Given the description of an element on the screen output the (x, y) to click on. 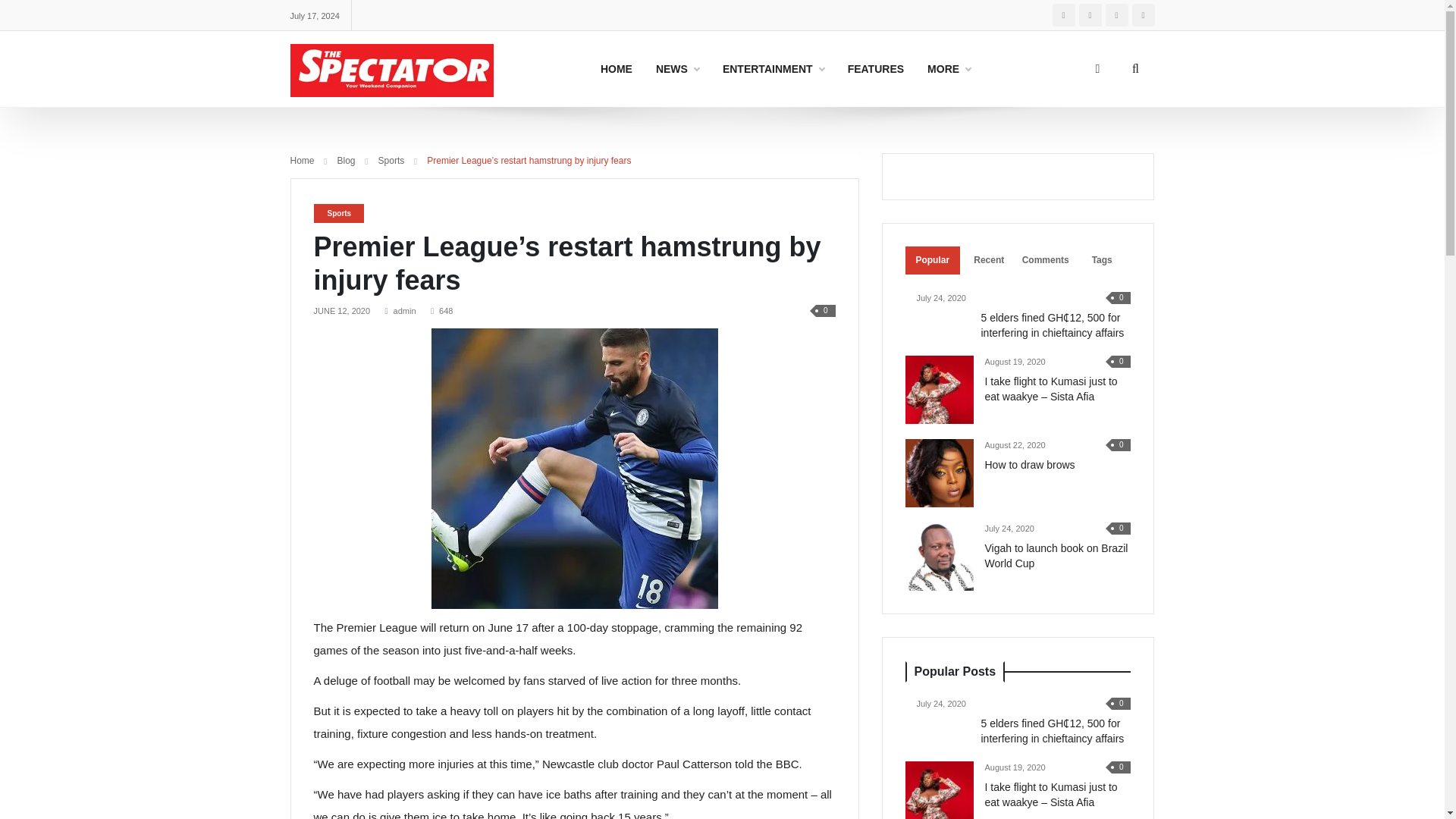
Twitter (1089, 15)
News (677, 69)
MORE (948, 69)
Entertainment (773, 69)
Instagram (1063, 15)
Features (875, 69)
0 (826, 310)
Home (301, 160)
FEATURES (875, 69)
Youtube (1116, 15)
HOME (721, 69)
ENTERTAINMENT (616, 69)
Blog (773, 69)
